Given the description of an element on the screen output the (x, y) to click on. 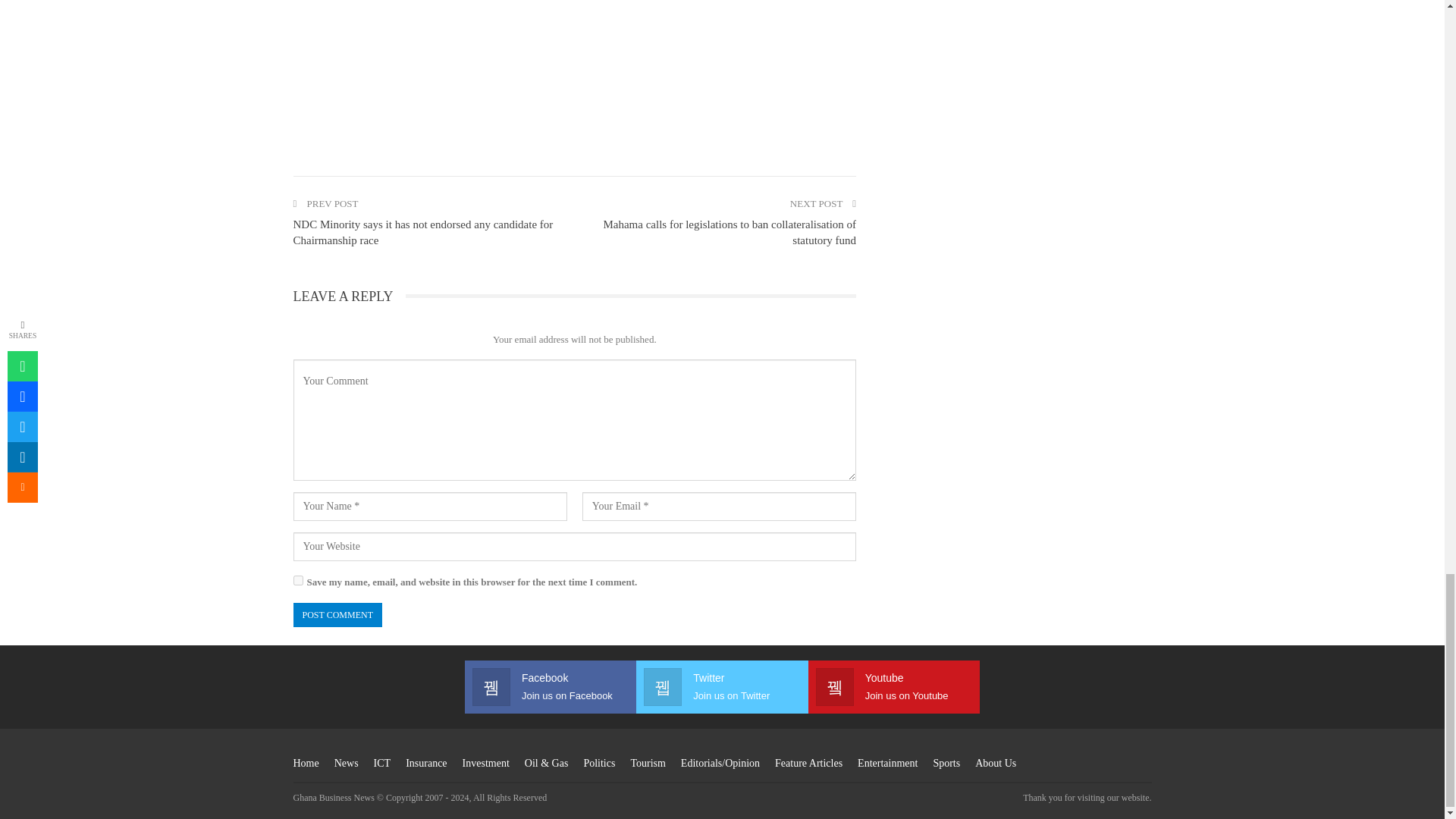
Advertisement (574, 72)
Post Comment (336, 614)
yes (297, 580)
